Given the description of an element on the screen output the (x, y) to click on. 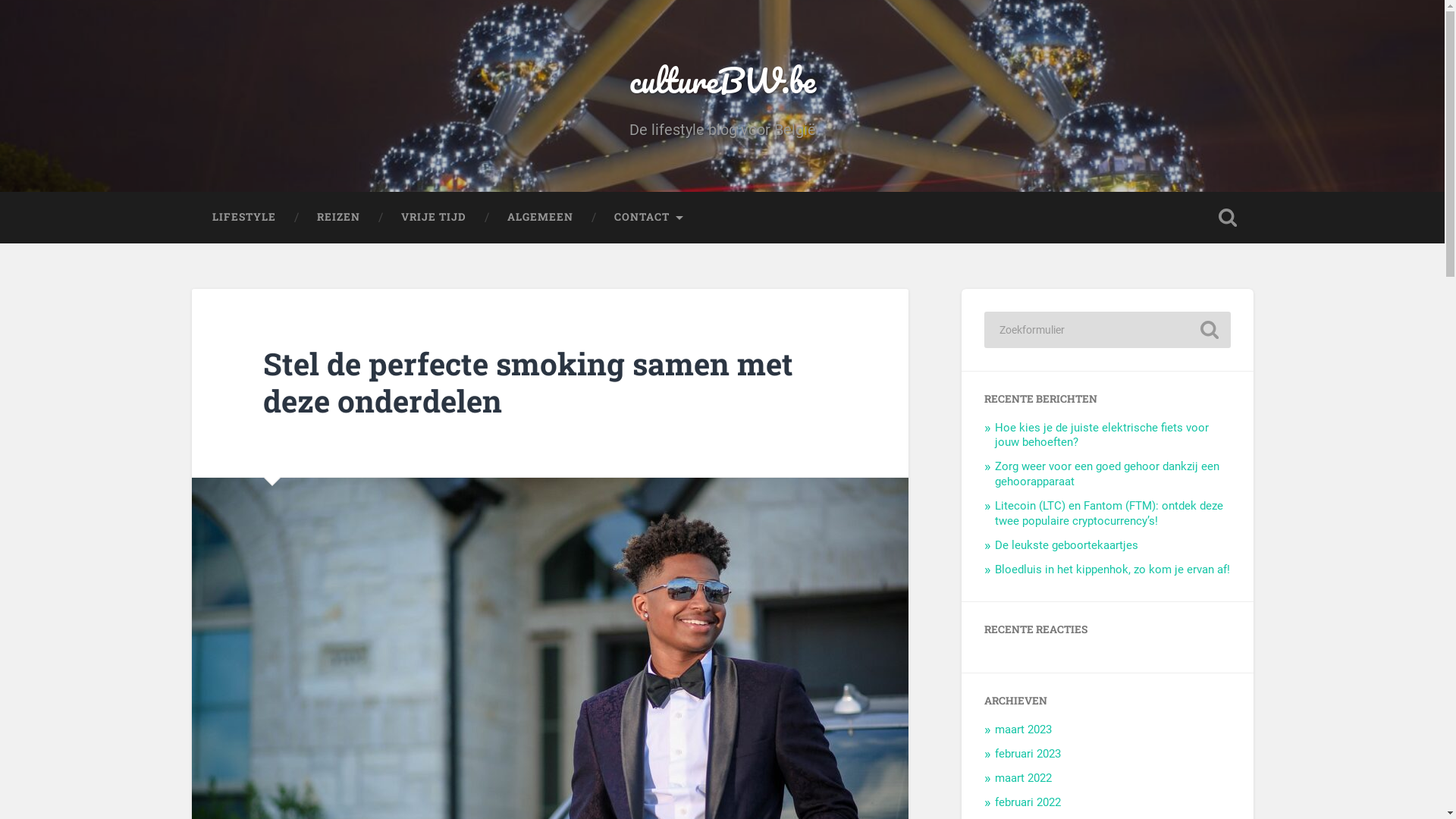
cultureBW.be Element type: text (722, 79)
Stel de perfecte smoking samen met deze onderdelen Element type: text (528, 381)
februari 2023 Element type: text (1027, 753)
Bloedluis in het kippenhok, zo kom je ervan af! Element type: text (1112, 569)
LIFESTYLE Element type: text (243, 217)
maart 2023 Element type: text (1022, 729)
maart 2022 Element type: text (1022, 777)
ALGEMEEN Element type: text (539, 217)
CONTACT Element type: text (648, 217)
Zorg weer voor een goed gehoor dankzij een gehoorapparaat Element type: text (1106, 473)
REIZEN Element type: text (337, 217)
De leukste geboortekaartjes Element type: text (1066, 545)
Zoeken Element type: text (1208, 329)
VRIJE TIJD Element type: text (433, 217)
februari 2022 Element type: text (1027, 802)
Hoe kies je de juiste elektrische fiets voor jouw behoeften? Element type: text (1101, 434)
